Given the description of an element on the screen output the (x, y) to click on. 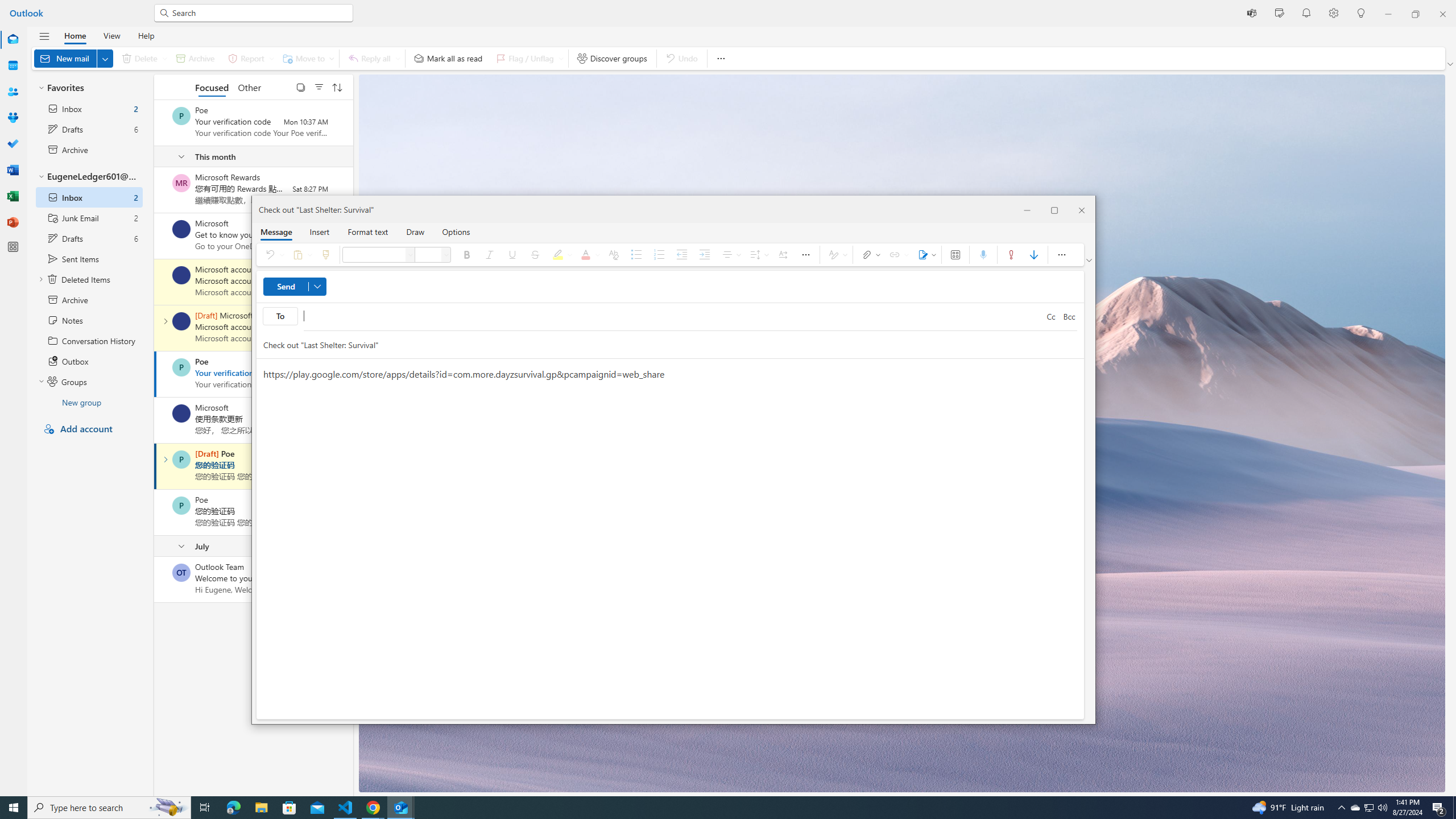
Font (374, 254)
Font color (588, 254)
Notification Chevron (1341, 807)
Outlook (new) - 2 running windows (400, 807)
Expand to see more New options (104, 58)
Send (294, 286)
Maximize (1054, 208)
Message (276, 231)
Styles (836, 254)
Format painter (325, 254)
Outlook Team (180, 572)
People (12, 91)
Report (248, 58)
PowerPoint (12, 222)
